Given the description of an element on the screen output the (x, y) to click on. 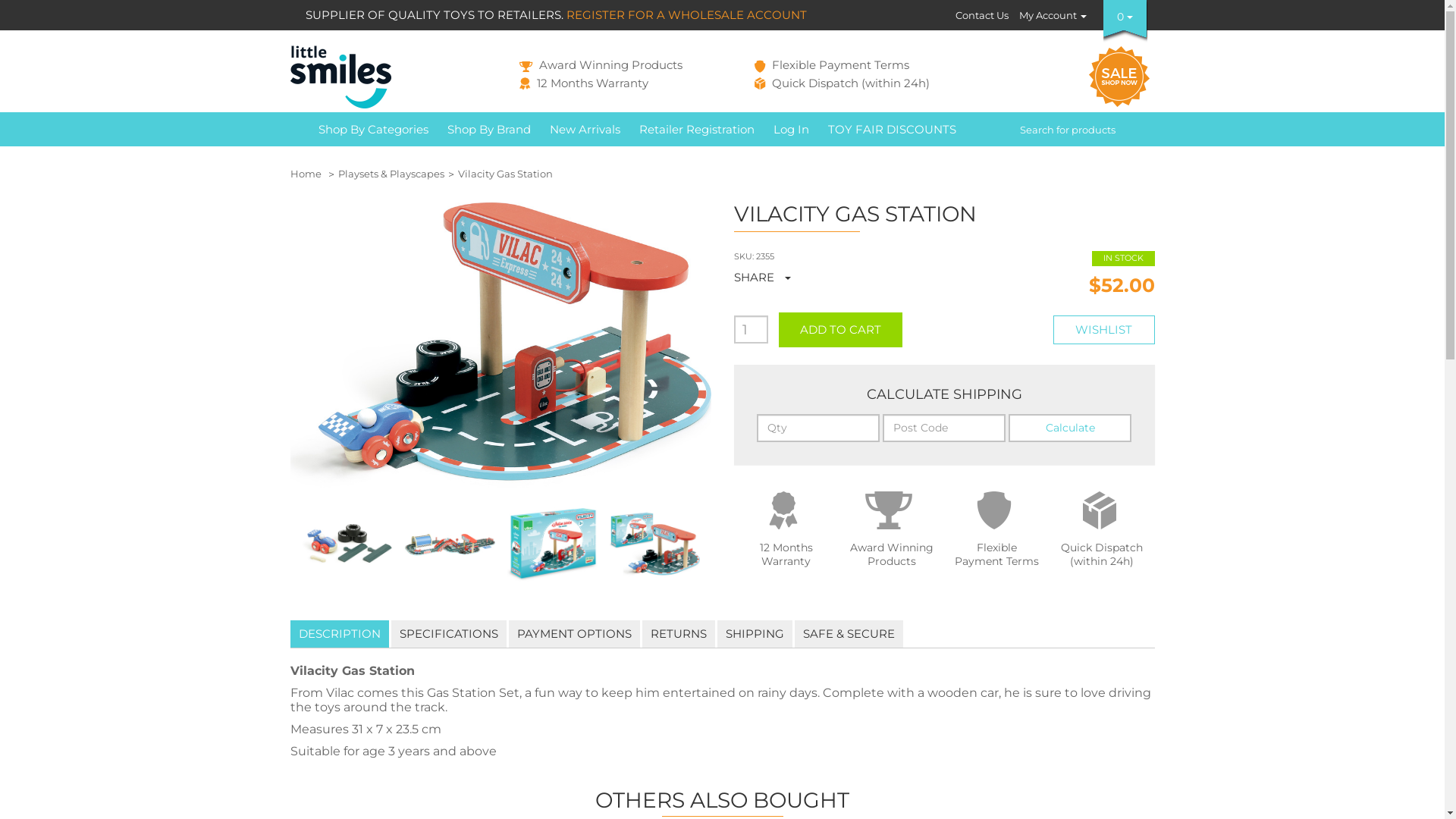
PAYMENT OPTIONS Element type: text (573, 633)
SAFE & SECURE Element type: text (848, 633)
WISHLIST Element type: text (1103, 329)
RETURNS Element type: text (677, 633)
Large View Element type: hover (551, 543)
SHARE Element type: text (766, 277)
Award Winning Products Element type: text (600, 64)
Flexible Payment Terms Element type: text (831, 64)
Large View Element type: hover (448, 543)
Vilacity Gas Station Element type: text (505, 173)
Playsets & Playscapes Element type: text (391, 173)
Shop By Categories Element type: text (373, 129)
Large View Element type: hover (346, 543)
My Account Element type: text (1052, 15)
Retailer Registration Element type: text (696, 129)
Home Element type: text (304, 173)
Quick Dispatch (within 24h) Element type: text (841, 82)
Search Element type: text (1144, 129)
Contact Us Element type: text (981, 15)
SPECIFICATIONS Element type: text (448, 633)
Large View Element type: hover (653, 543)
12 Months Warranty Element type: text (583, 82)
Calculate Element type: text (1069, 428)
REGISTER FOR A WHOLESALE ACCOUNT Element type: text (686, 14)
Shop By Brand Element type: text (489, 129)
DESCRIPTION Element type: text (338, 633)
ADD TO CART Element type: text (839, 329)
SHIPPING Element type: text (754, 633)
0 Element type: text (1124, 16)
New Arrivals Element type: text (584, 129)
TOY FAIR DISCOUNTS Element type: text (892, 129)
Log In Element type: text (791, 129)
